Given the description of an element on the screen output the (x, y) to click on. 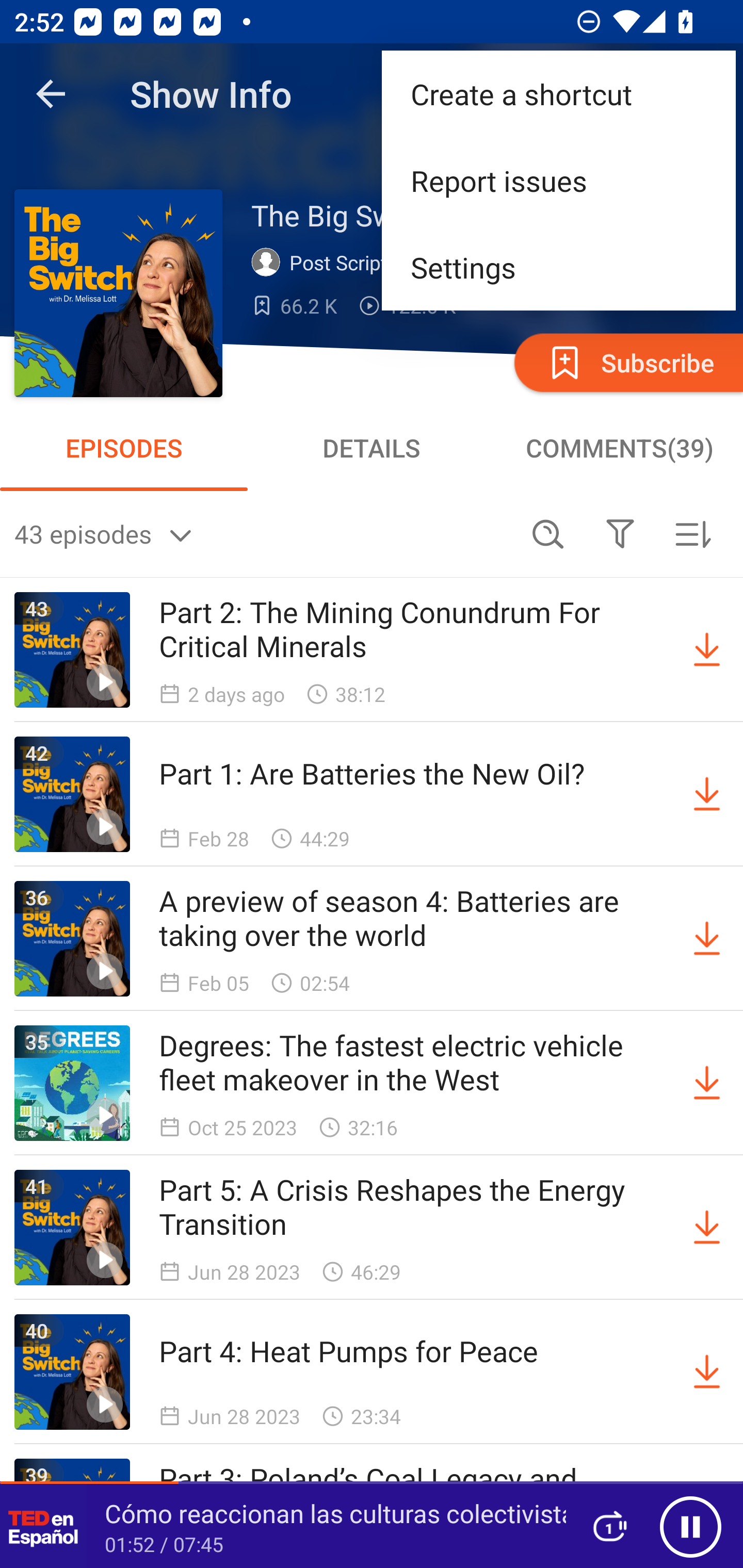
Create a shortcut (558, 93)
Report issues (558, 180)
Settings (558, 267)
